Given the description of an element on the screen output the (x, y) to click on. 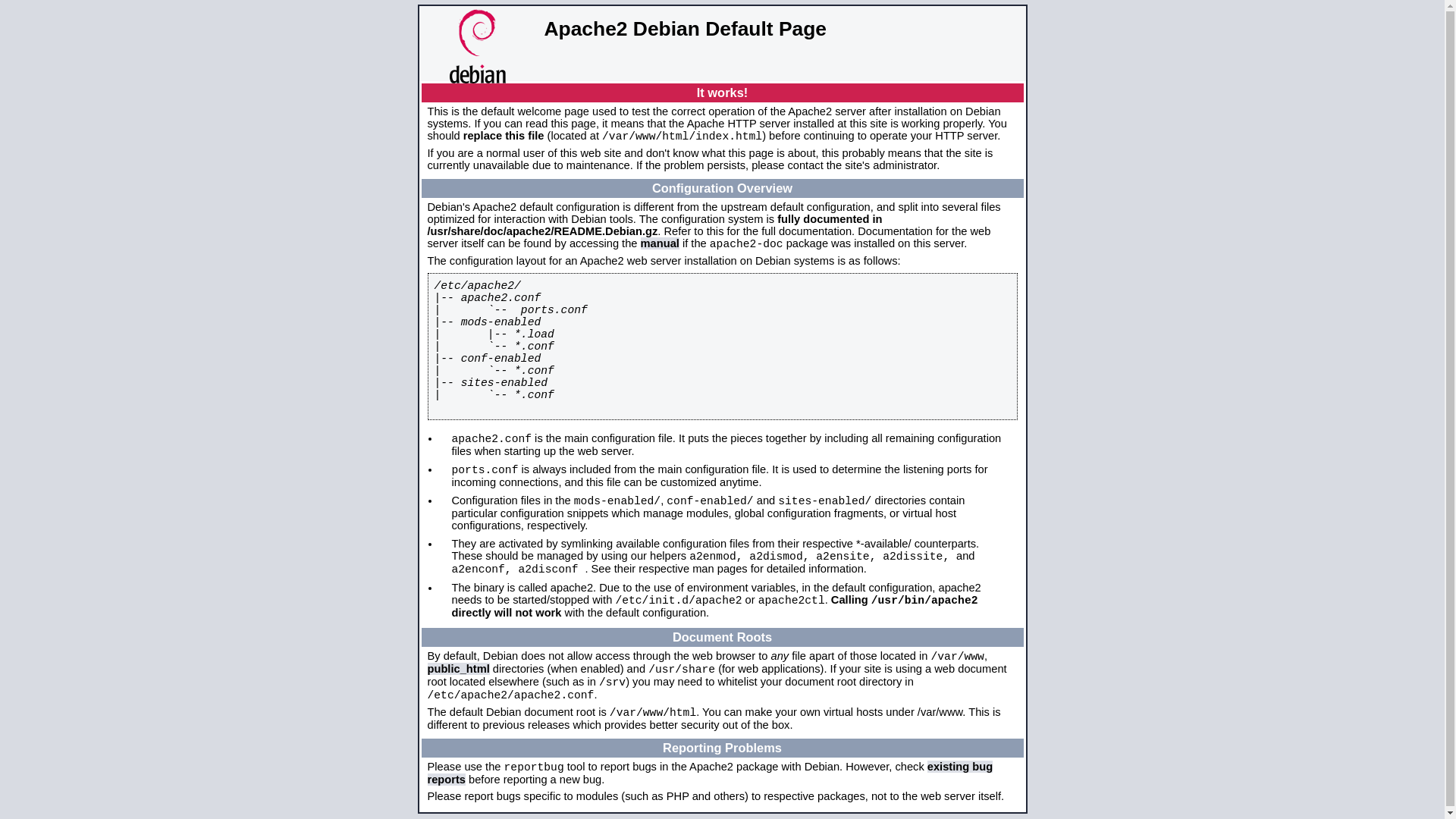
public_html Element type: text (458, 668)
manual Element type: text (659, 243)
existing bug reports Element type: text (710, 772)
